Given the description of an element on the screen output the (x, y) to click on. 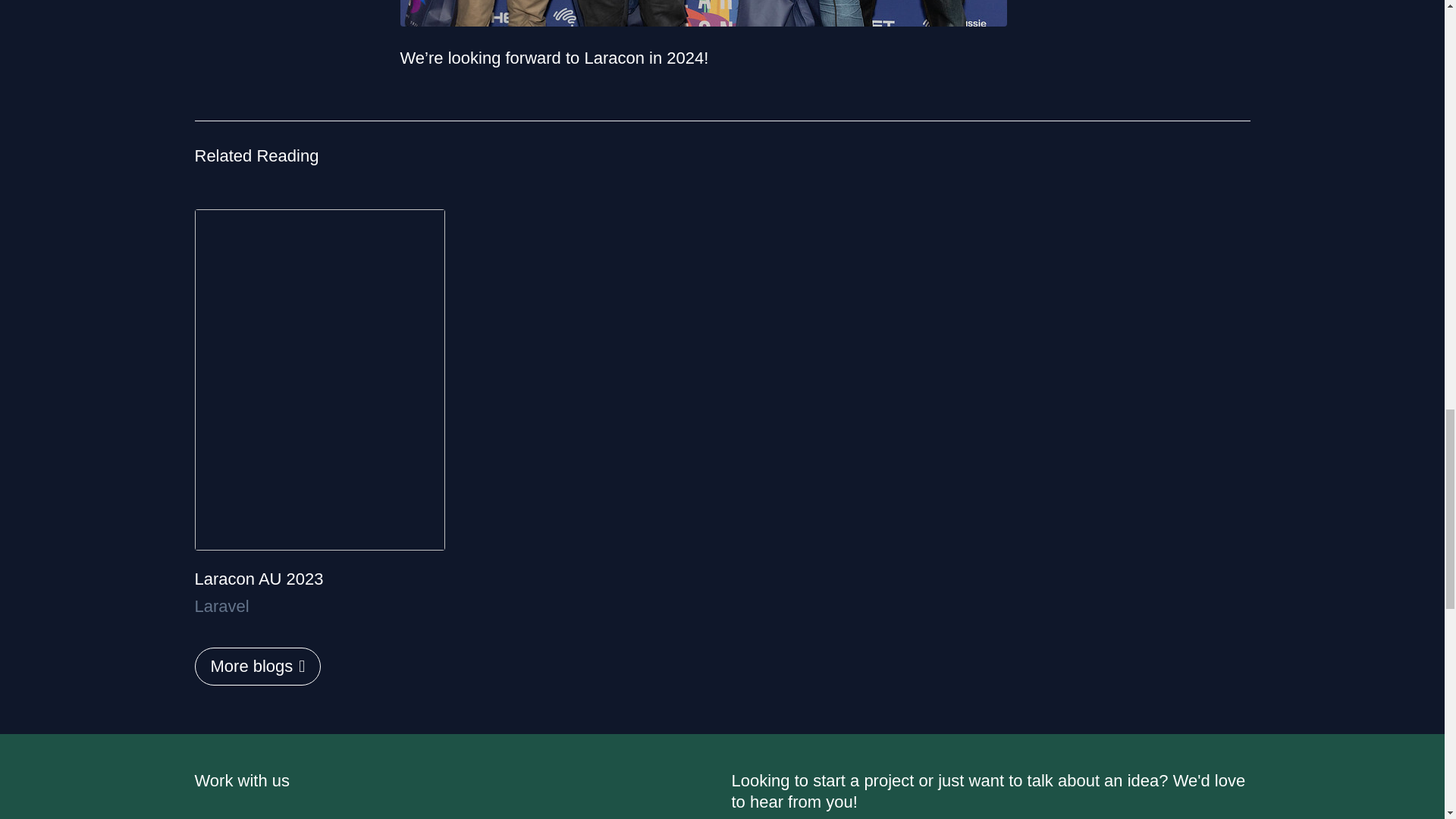
More blogs (256, 666)
